Given the description of an element on the screen output the (x, y) to click on. 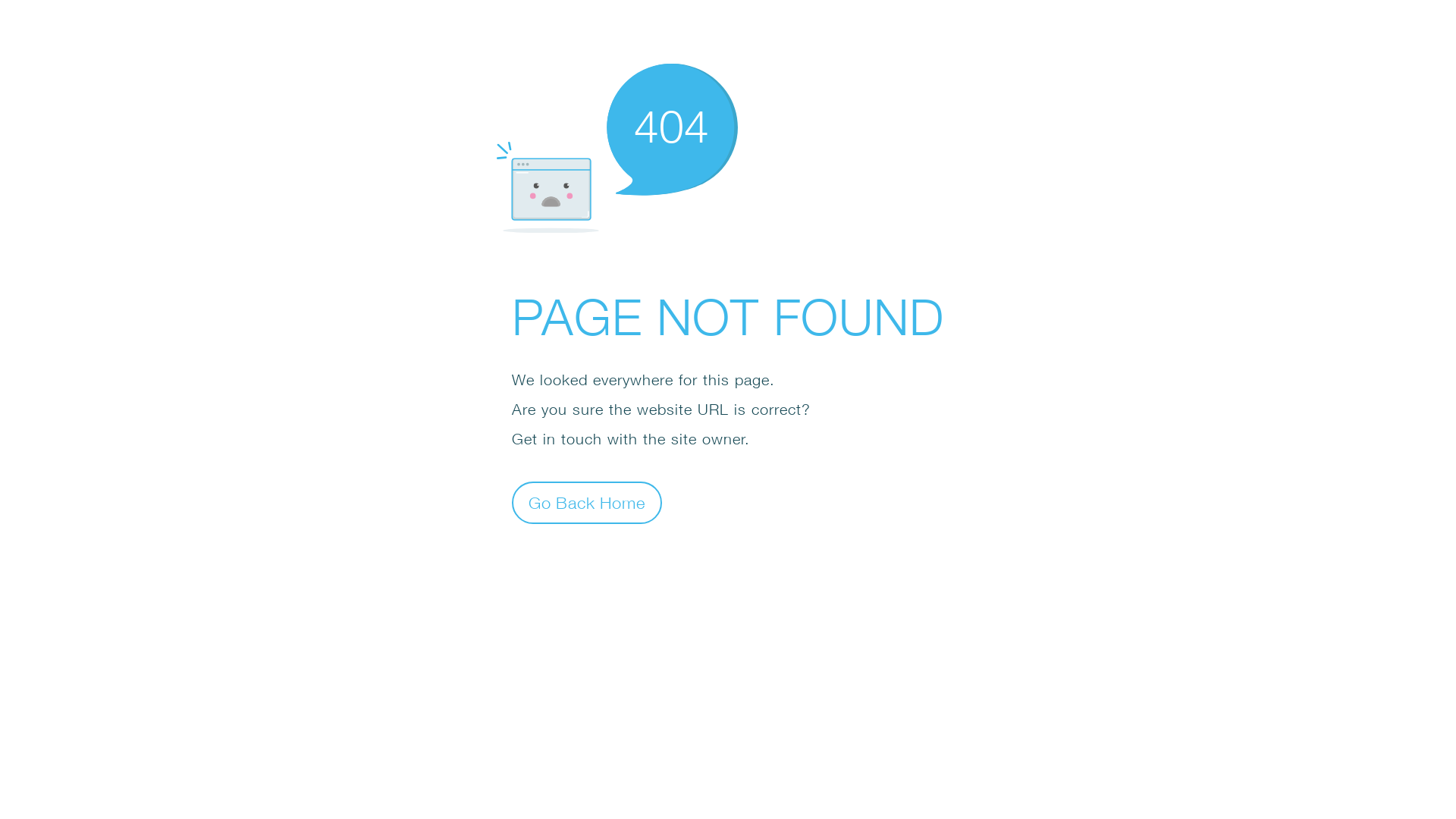
Go Back Home Element type: text (586, 502)
